Given the description of an element on the screen output the (x, y) to click on. 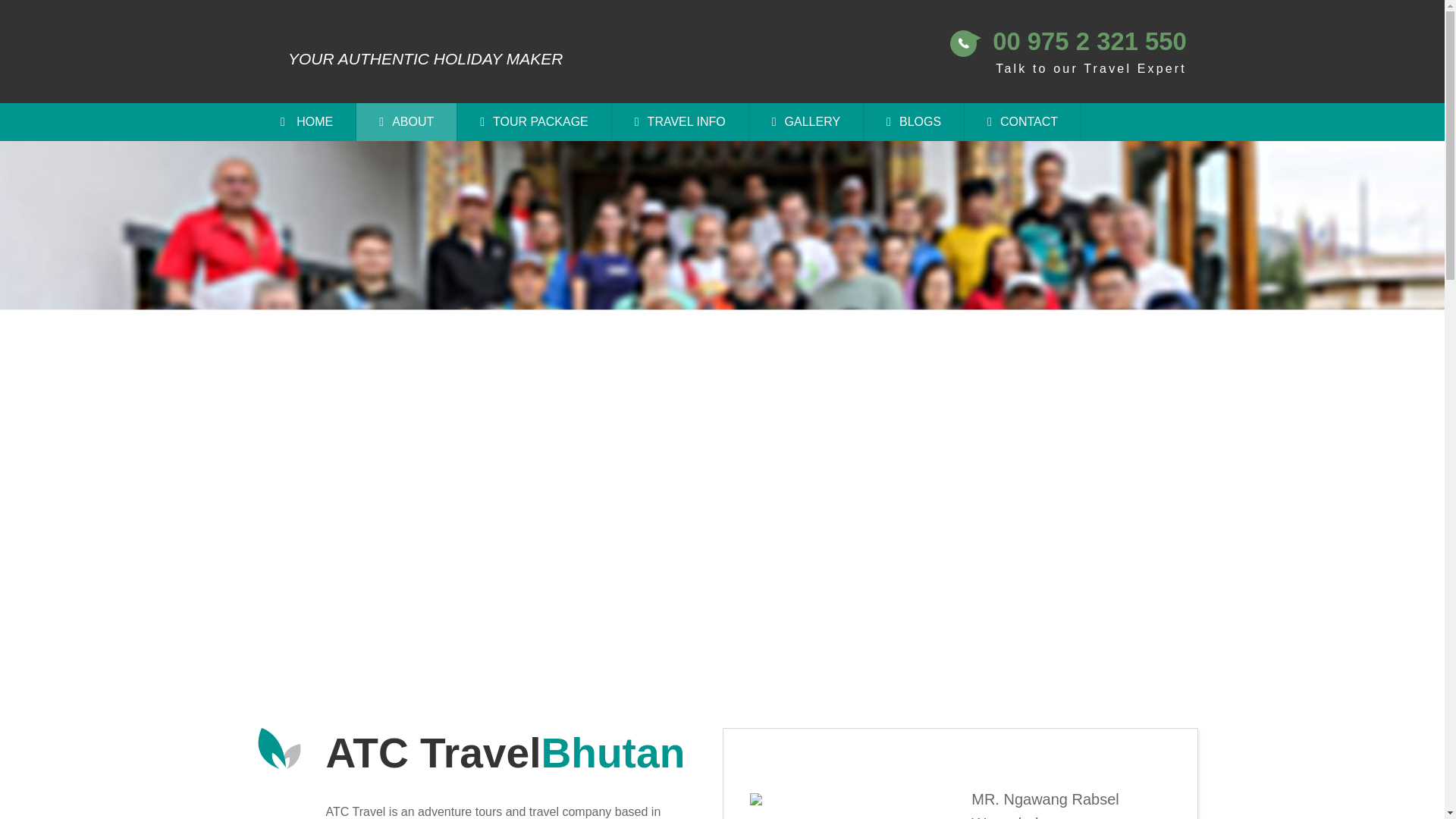
ABOUT (406, 121)
TOUR PACKAGE (534, 121)
HOME (306, 121)
GALLERY (806, 121)
ATC Travel Bhutan (308, 10)
BLOGS (913, 121)
00 975 2 321 550 (1089, 41)
CONTACT (1022, 121)
TRAVEL INFO (680, 121)
